Given the description of an element on the screen output the (x, y) to click on. 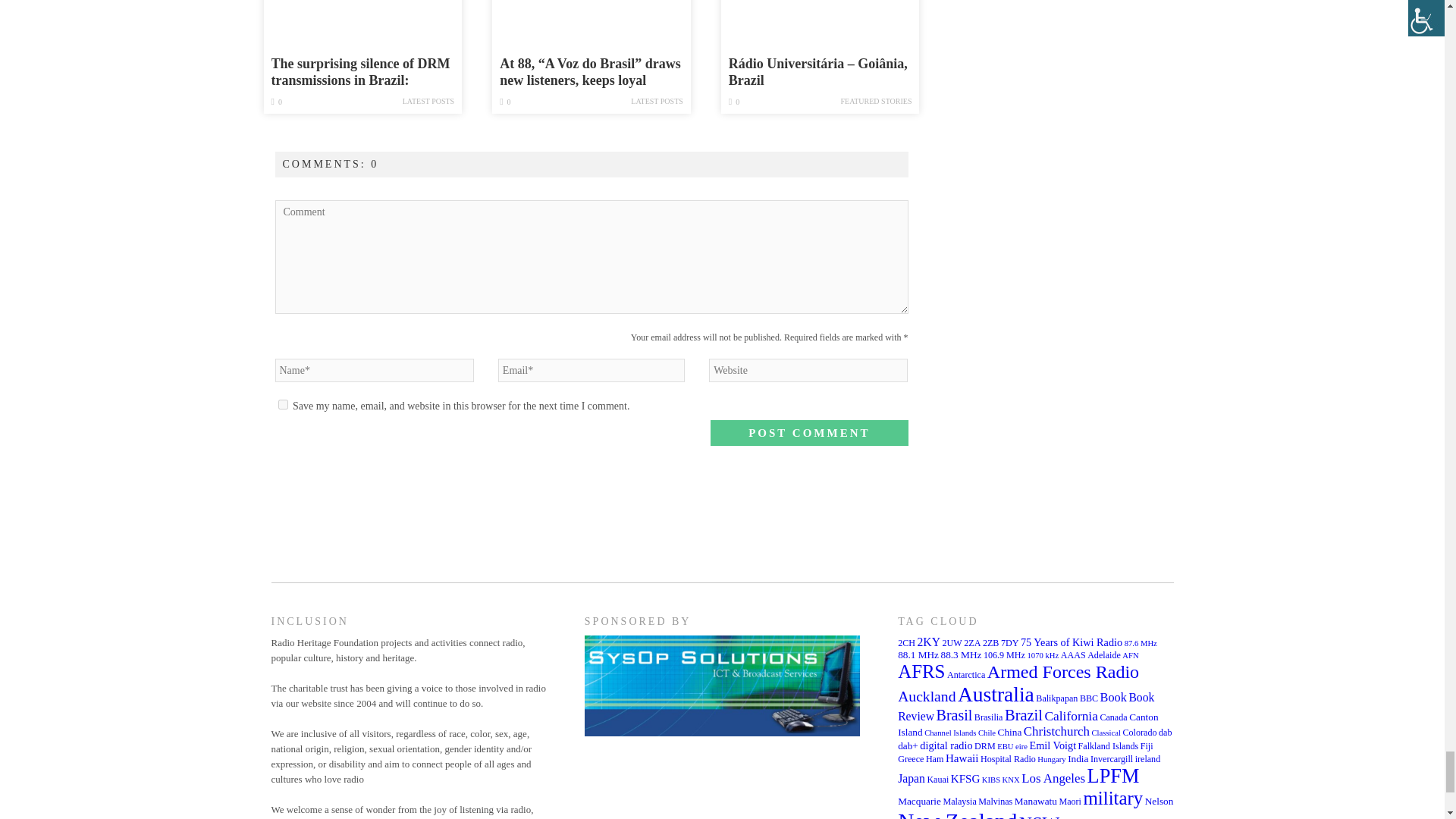
Post Comment (808, 432)
yes (282, 404)
